Given the description of an element on the screen output the (x, y) to click on. 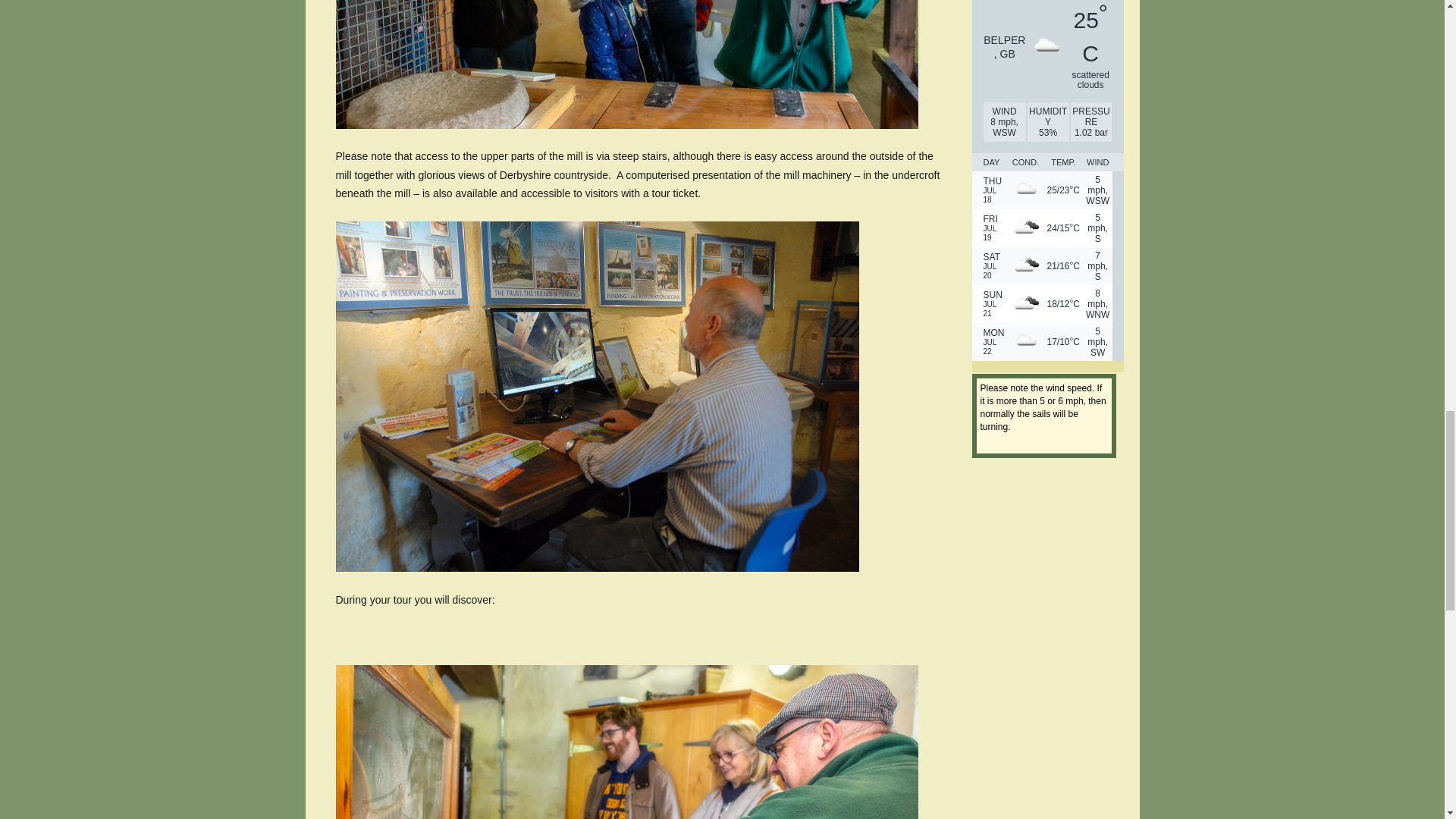
scattered clouds (1025, 341)
broken clouds (1025, 227)
scattered clouds (1025, 190)
overcast clouds (1025, 265)
scattered clouds (1046, 46)
overcast clouds (1025, 304)
